Given the description of an element on the screen output the (x, y) to click on. 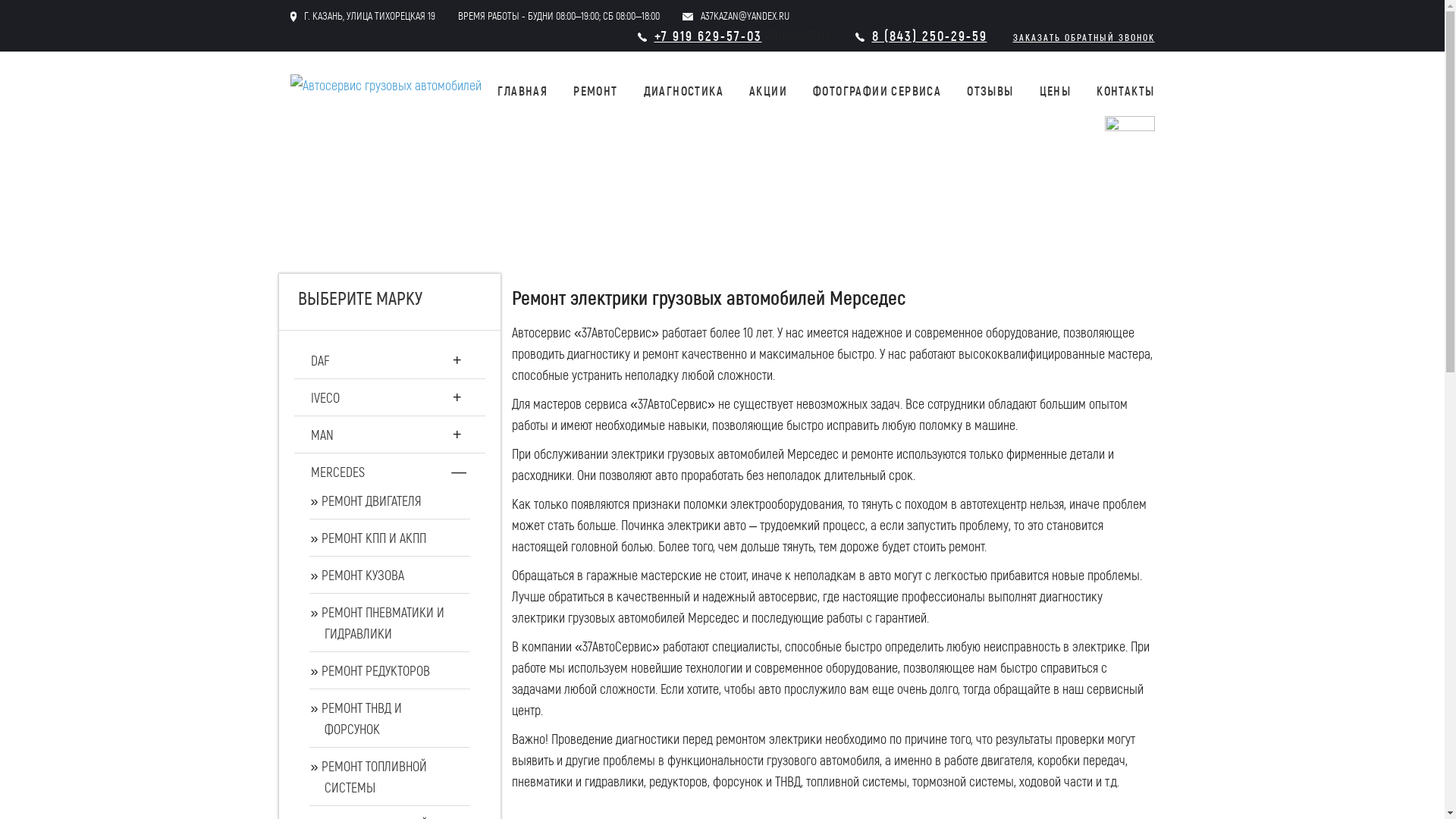
A37KAZAN@YANDEX.RU Element type: text (744, 15)
MERCEDES Element type: text (337, 471)
Mercedes Element type: text (143, 189)
Mercedes Element type: text (143, 228)
IVECO Element type: text (324, 397)
DAF Element type: text (319, 359)
+7 919 629-57-03 Element type: text (707, 35)
MAN Element type: text (321, 434)
8 (843) 250-29-59 Element type: text (929, 35)
